Given the description of an element on the screen output the (x, y) to click on. 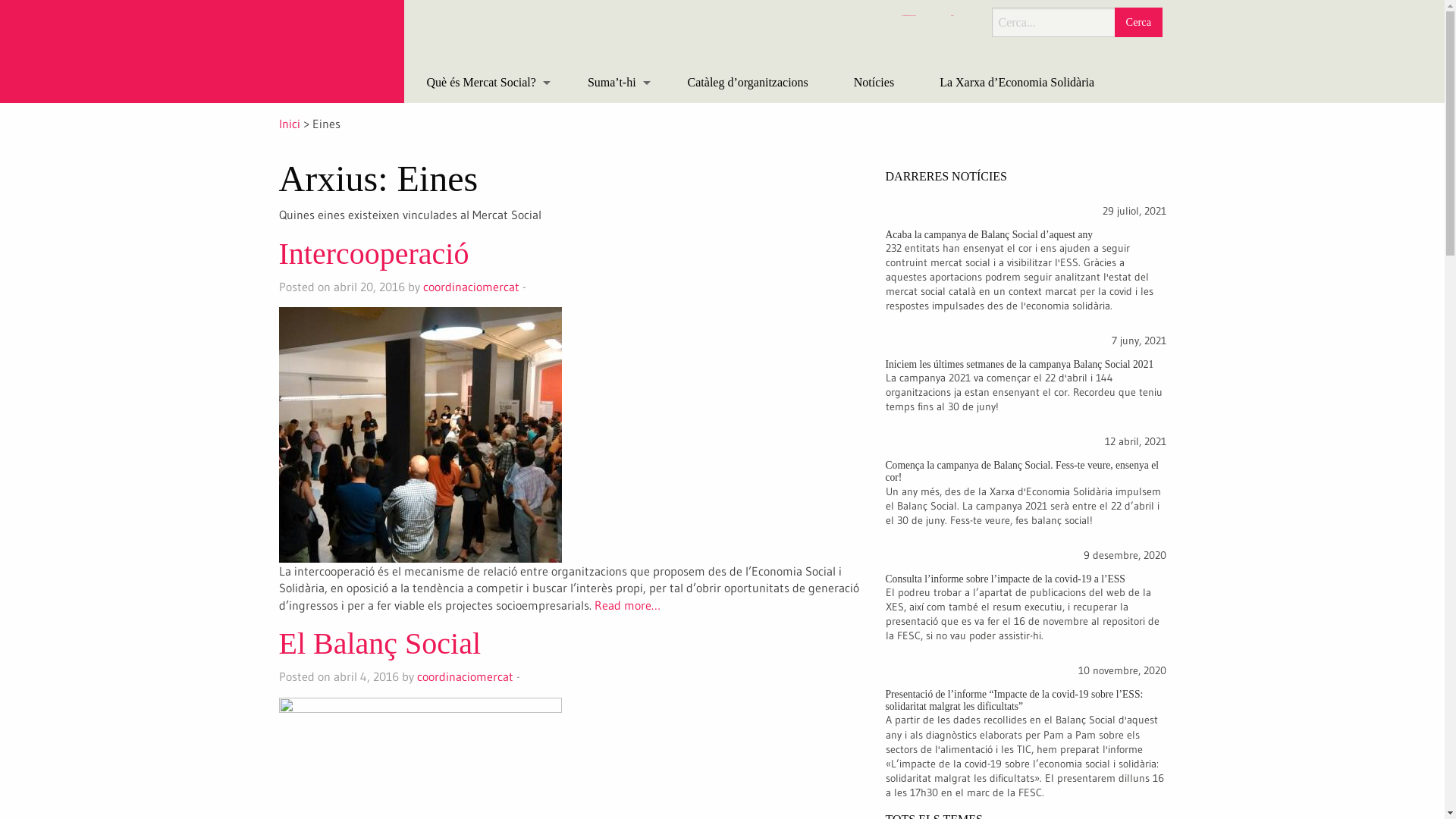
Search for: Element type: hover (1063, 22)
mercat social Element type: text (334, 64)
Cerca Element type: text (1137, 22)
coordinaciomercat Element type: text (471, 286)
Contacte Element type: text (953, 15)
Inici Element type: text (289, 123)
coordinaciomercat Element type: text (465, 676)
